Given the description of an element on the screen output the (x, y) to click on. 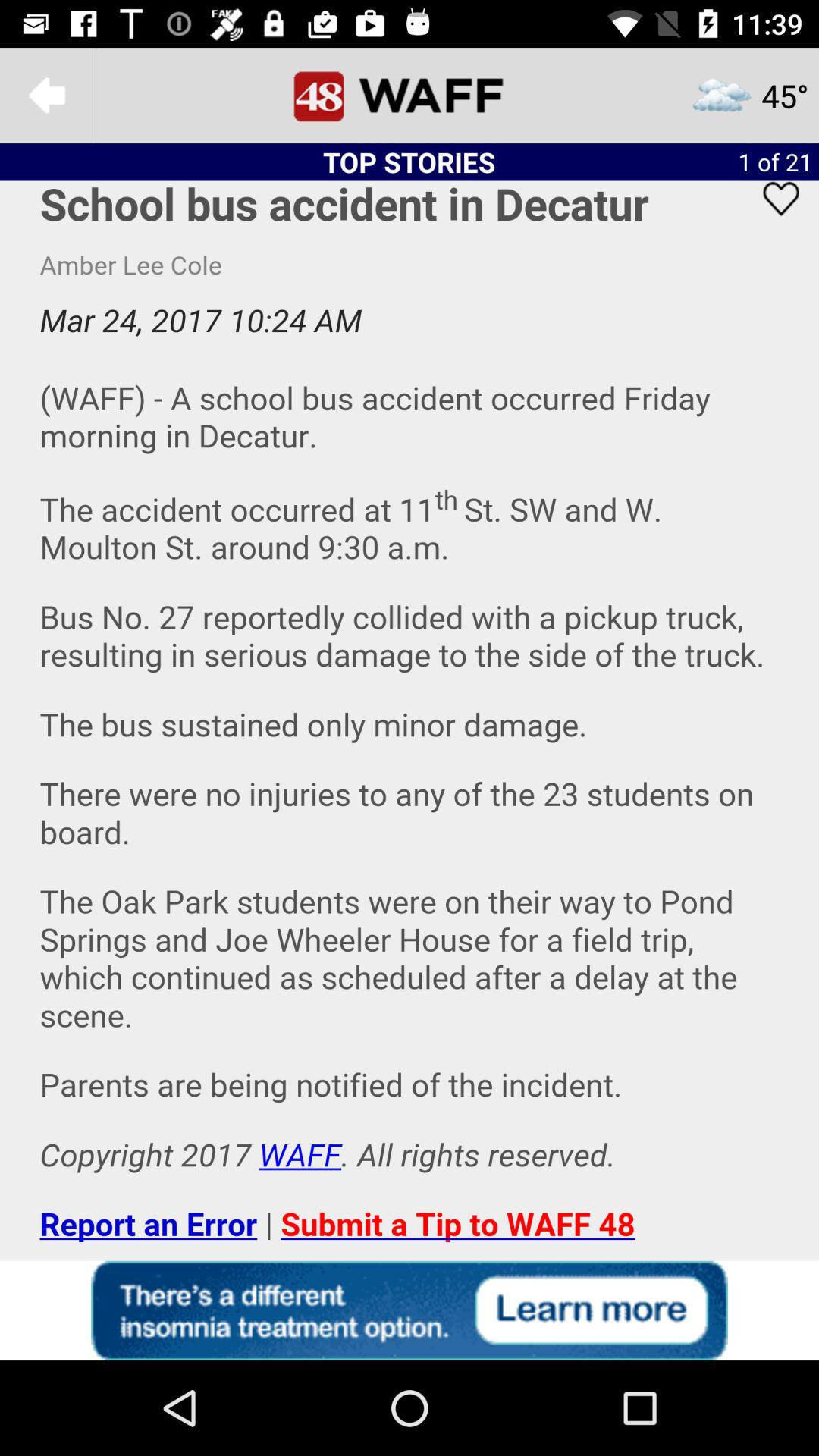
go back (47, 95)
